Given the description of an element on the screen output the (x, y) to click on. 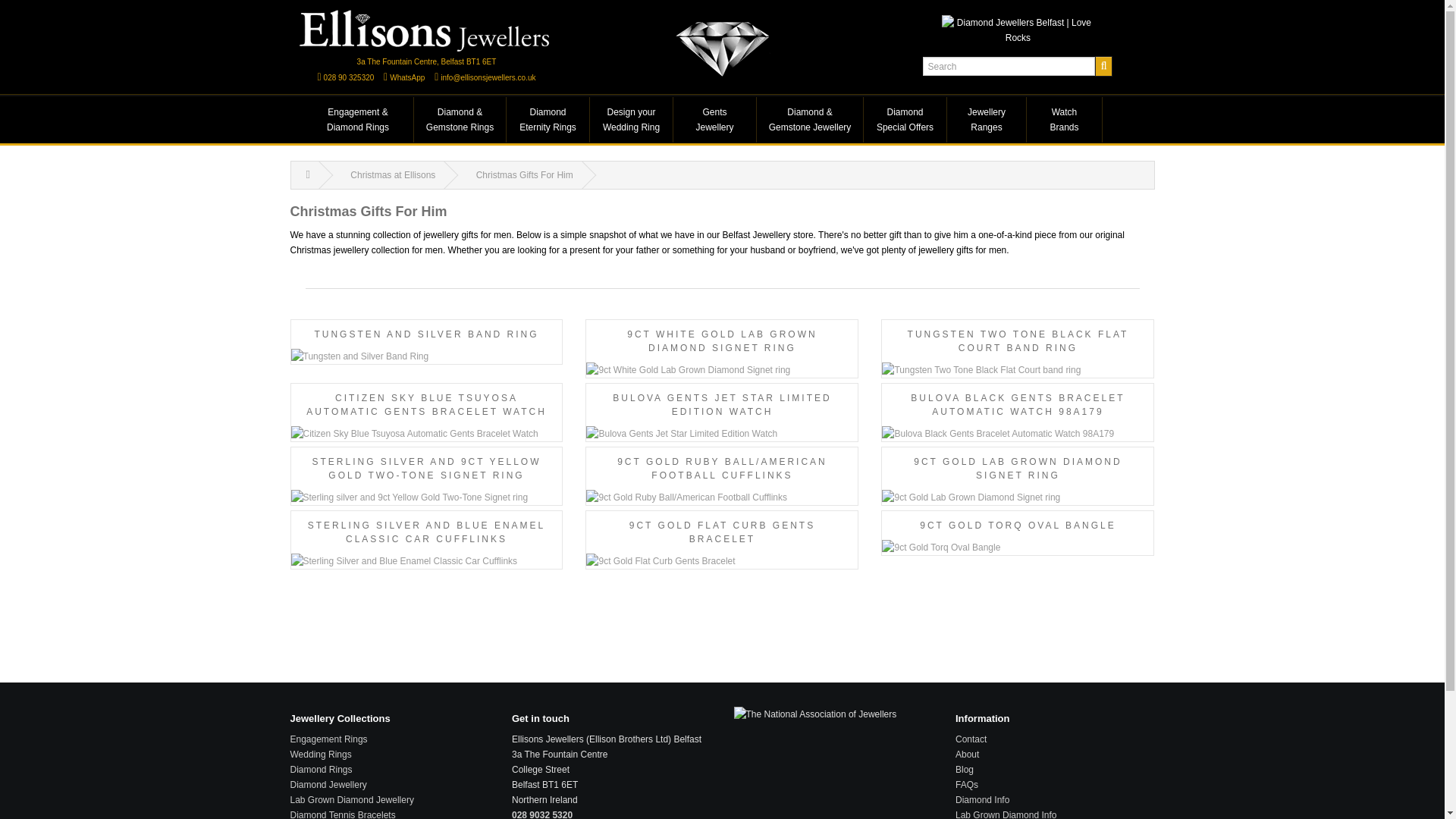
9CT GOLD FLAT CURB GENTS BRACELET (721, 543)
Watch Brands (1064, 119)
Bulova Black Gents Bracelet Automatic Watch 98A179 (1017, 416)
Design your Wedding Ring (630, 119)
BULOVA BLACK GENTS BRACELET AUTOMATIC WATCH 98A179 (1017, 416)
Homepage (426, 30)
9ct White Gold Lab Grown Diamond Signet ring (721, 352)
BULOVA GENTS JET STAR LIMITED EDITION WATCH (721, 416)
9CT GOLD LAB GROWN DIAMOND SIGNET RING (1017, 480)
TUNGSTEN AND SILVER BAND RING (426, 345)
028 90 325320 (348, 77)
Citizen Sky Blue Tsuyosa Automatic Gents Bracelet Watch (426, 433)
9CT WHITE GOLD LAB GROWN DIAMOND SIGNET RING (721, 352)
9ct White Gold Lab Grown Diamond Signet ring (721, 369)
Bulova Black Gents Bracelet Automatic Watch 98A179 (1017, 433)
